Given the description of an element on the screen output the (x, y) to click on. 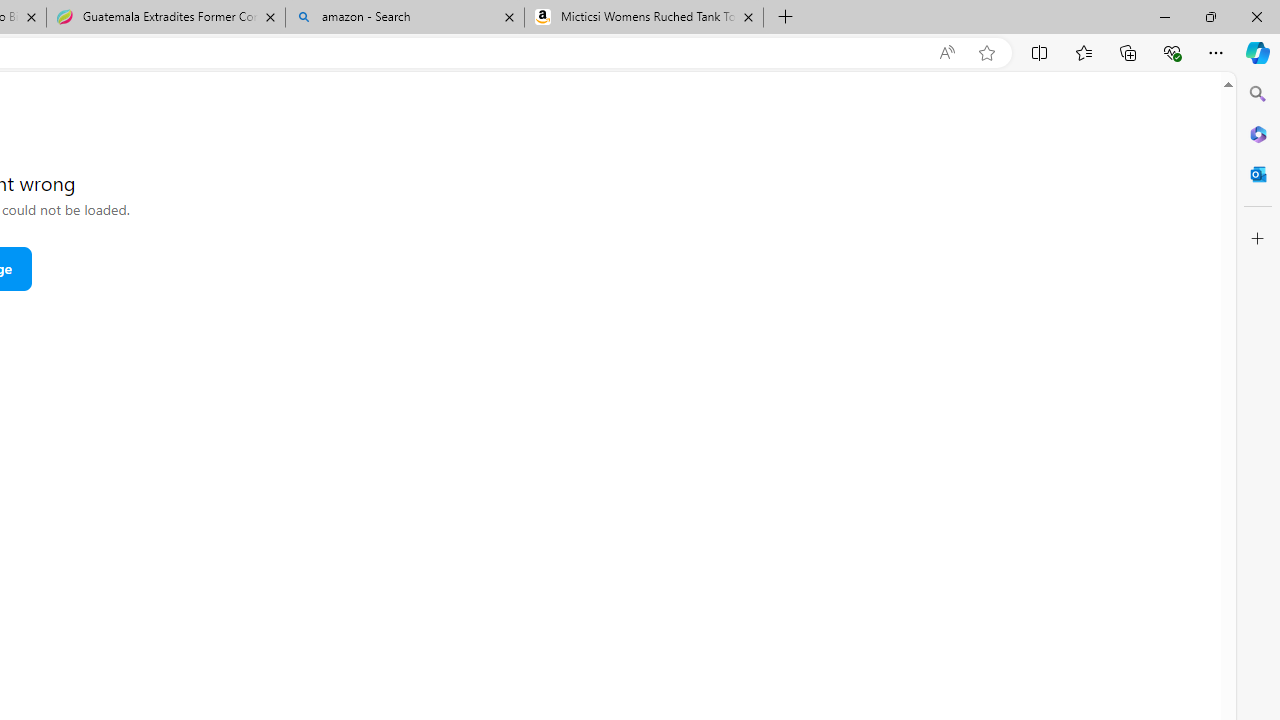
Split screen (1039, 52)
Add this page to favorites (Ctrl+D) (986, 53)
Search (1258, 94)
Minimize (1164, 16)
Close (1256, 16)
